Given the description of an element on the screen output the (x, y) to click on. 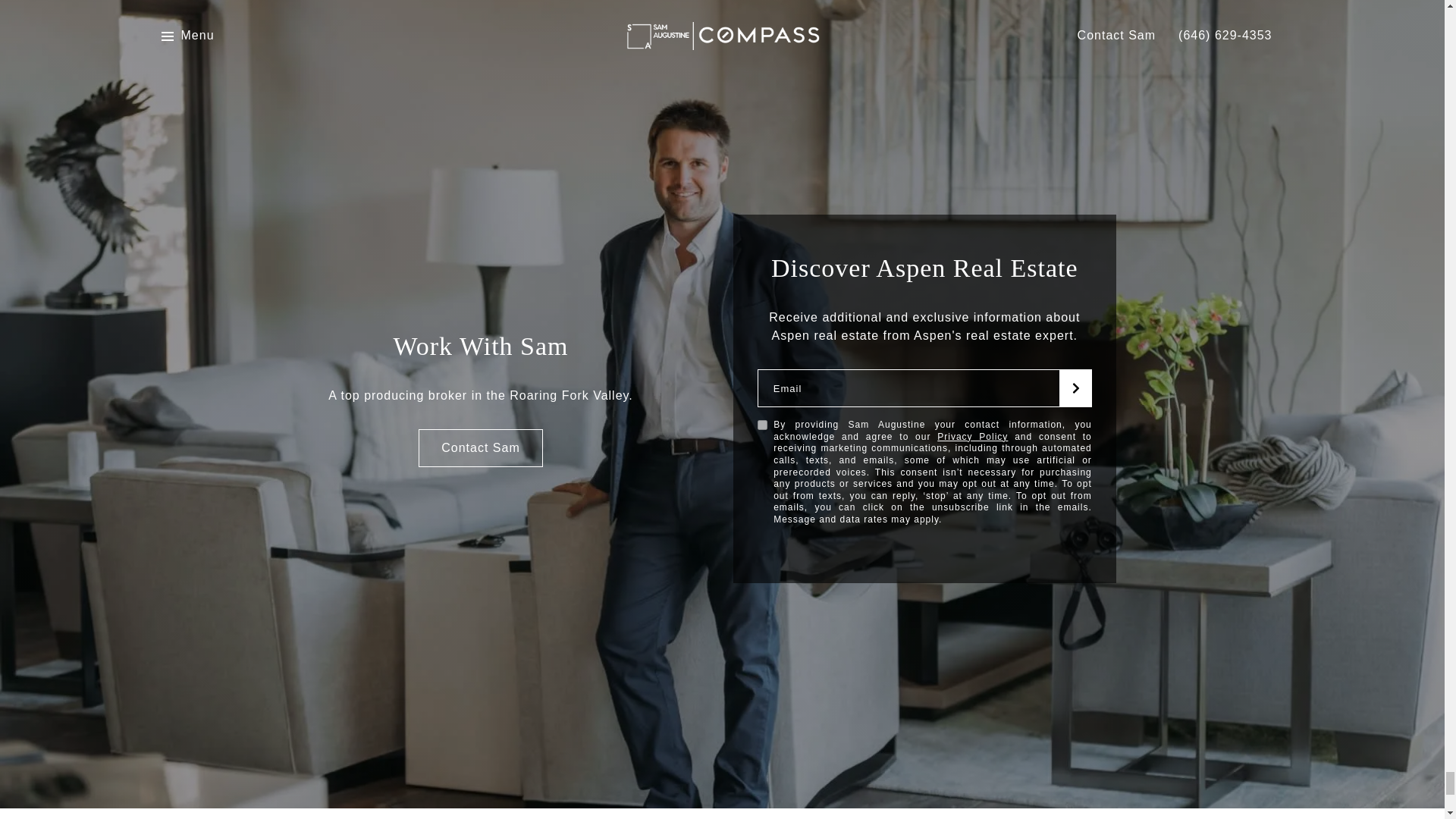
on (762, 424)
